Given the description of an element on the screen output the (x, y) to click on. 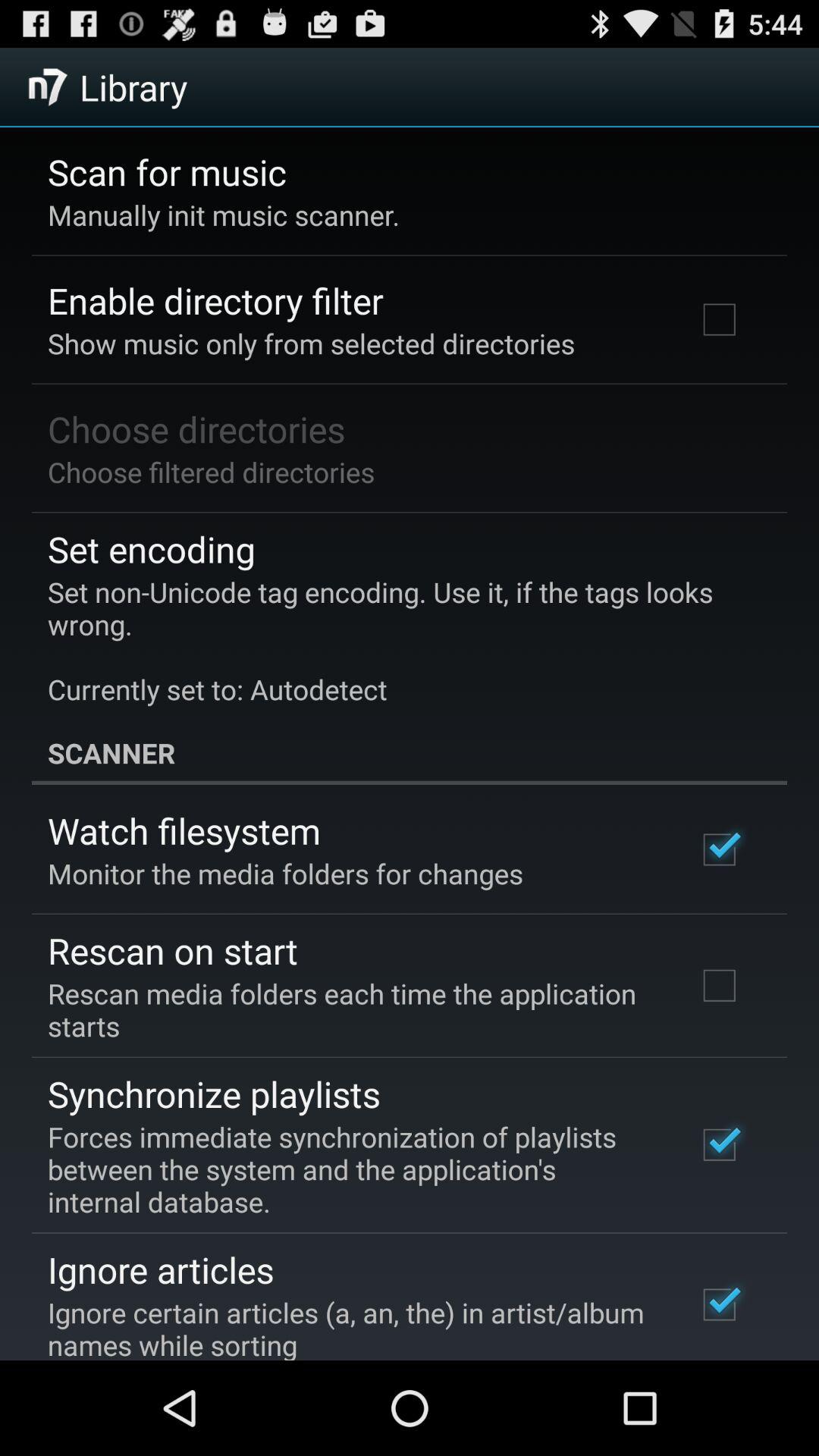
turn off the app above the show music only (215, 300)
